Given the description of an element on the screen output the (x, y) to click on. 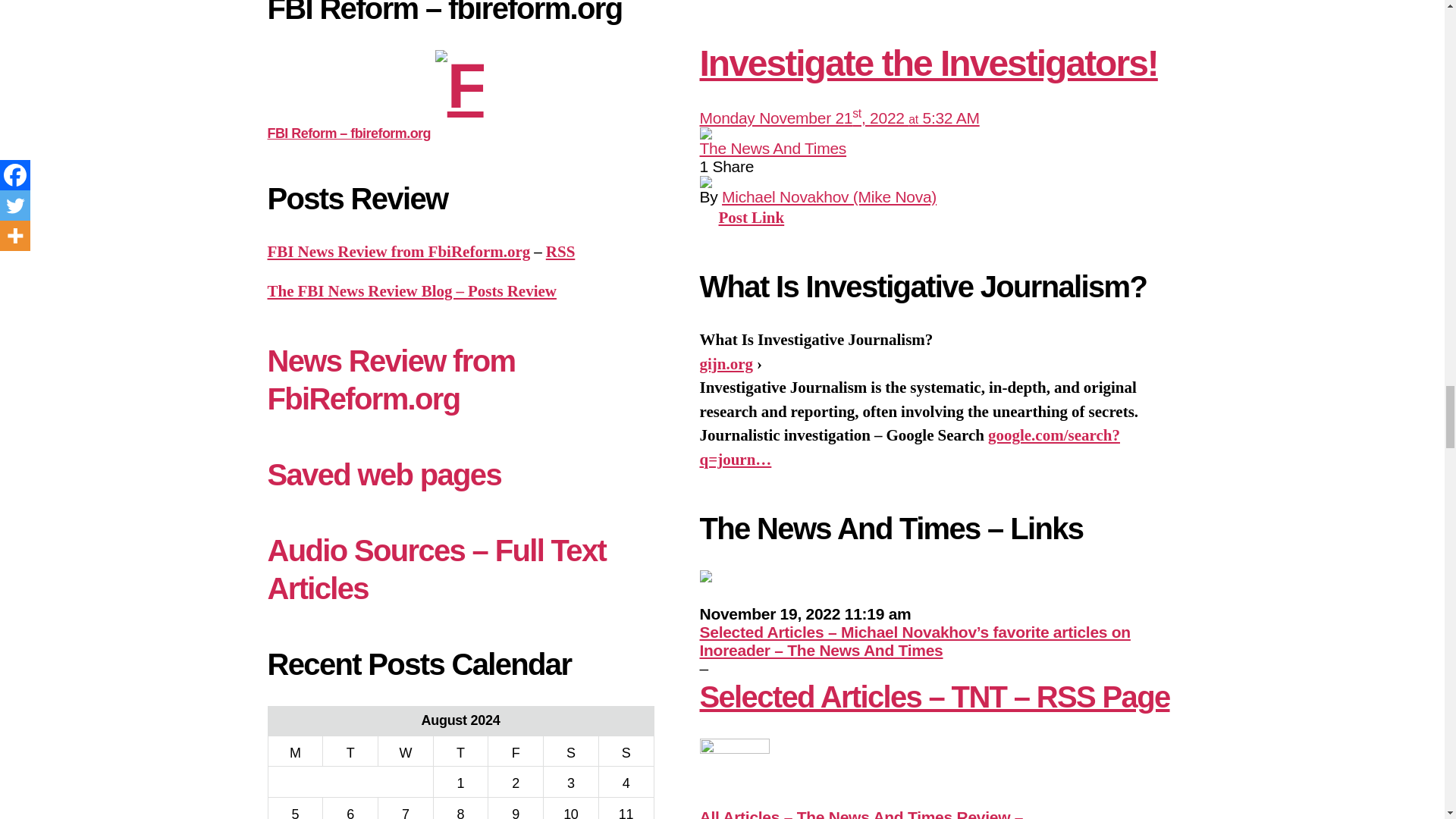
Monday (295, 750)
Friday (515, 750)
Tuesday (350, 750)
Saturday (570, 750)
Wednesday (404, 750)
Sunday (625, 750)
Thursday (459, 750)
